Given the description of an element on the screen output the (x, y) to click on. 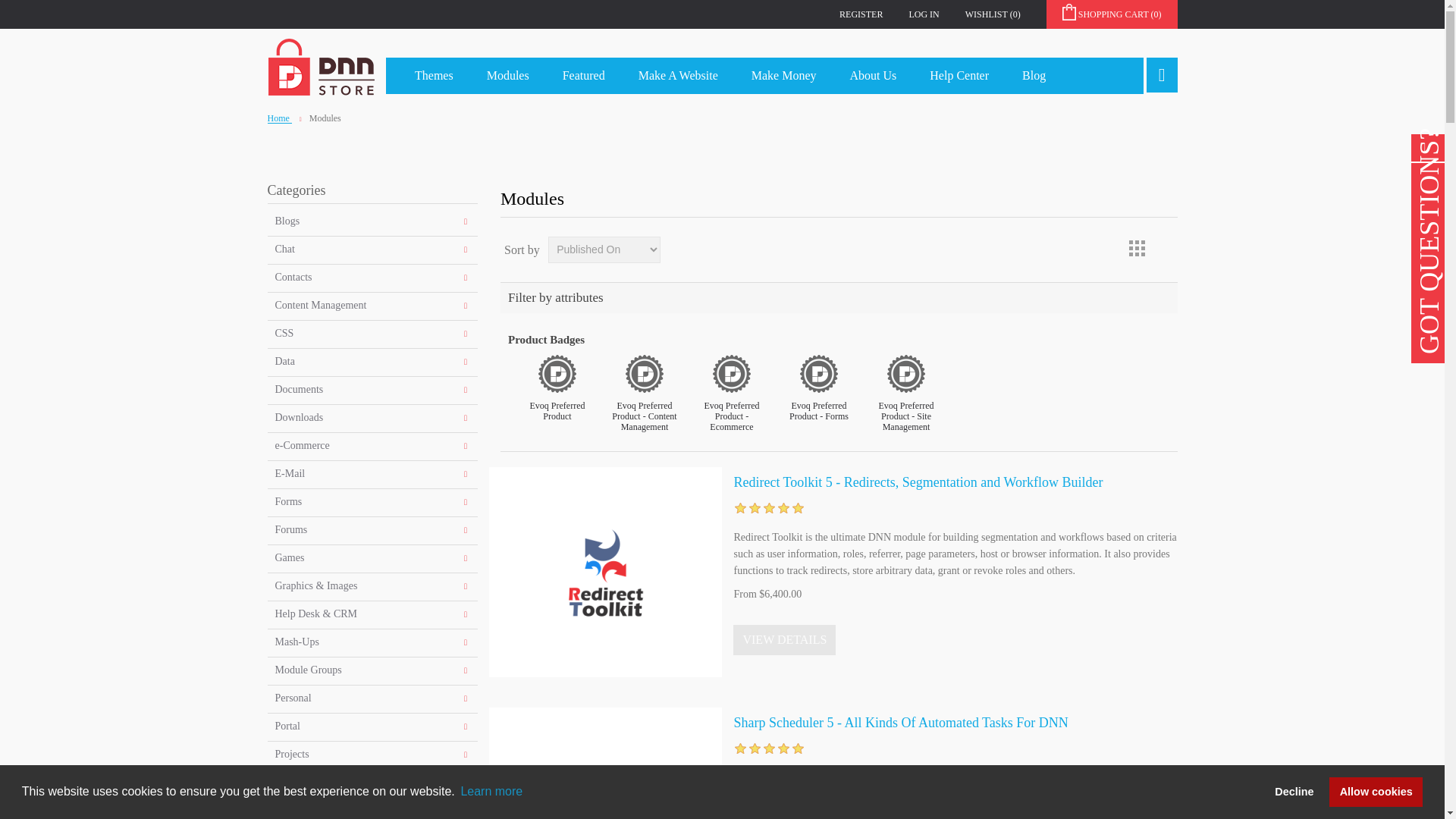
Allow cookies (1375, 791)
Learn more (491, 791)
View Details (784, 639)
REGISTER (861, 13)
Modules (508, 75)
LOG IN (923, 13)
Blog (1033, 75)
Make Money (784, 75)
Home (278, 118)
Featured (583, 75)
Make A Website (677, 75)
Decline (1294, 791)
